Given the description of an element on the screen output the (x, y) to click on. 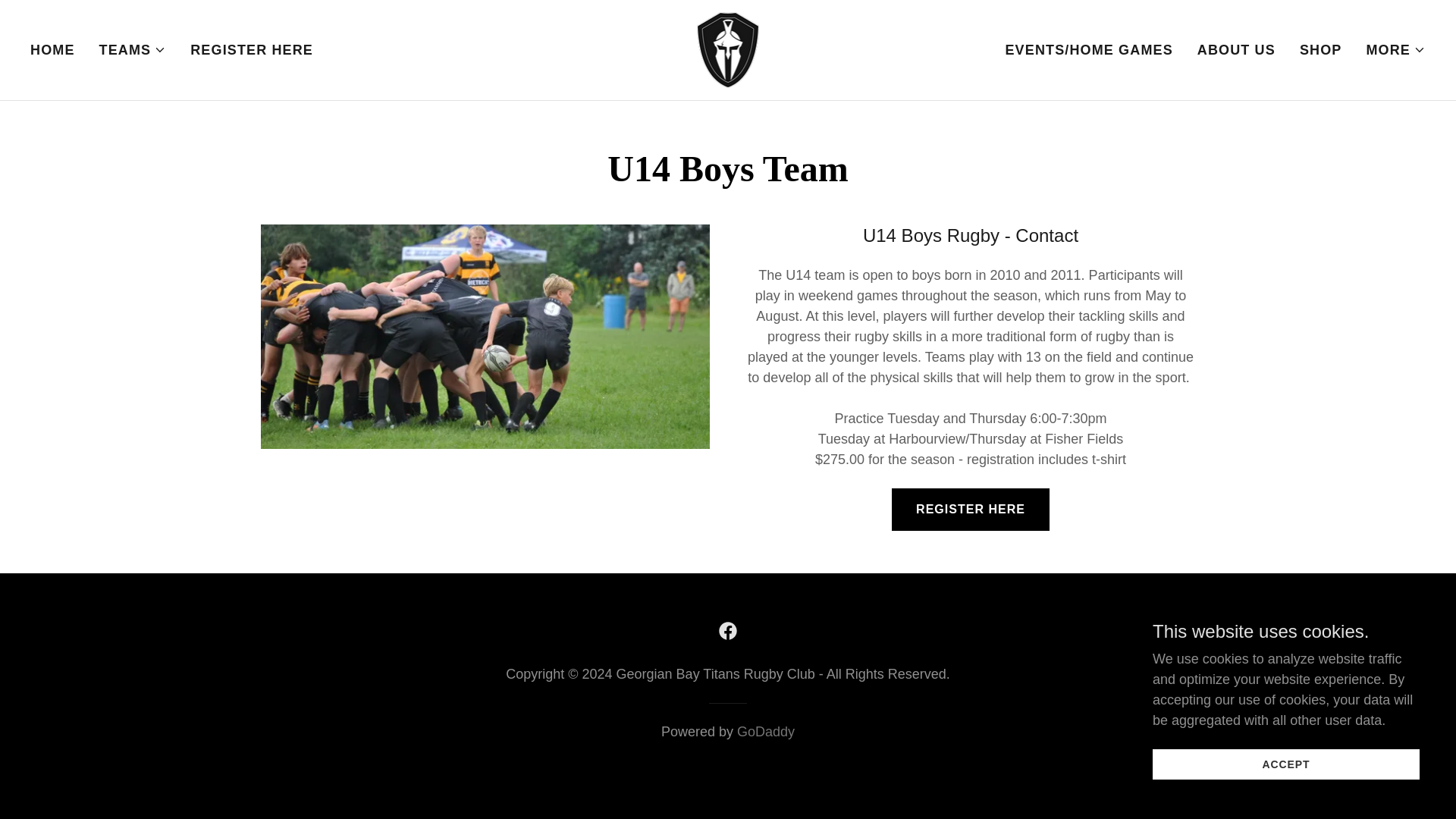
ABOUT US (1235, 49)
HOME (53, 49)
MORE (1395, 49)
SHOP (1320, 49)
REGISTER HERE (251, 49)
TEAMS (133, 49)
Georgian Bay Titans Rugby Club (728, 48)
